Given the description of an element on the screen output the (x, y) to click on. 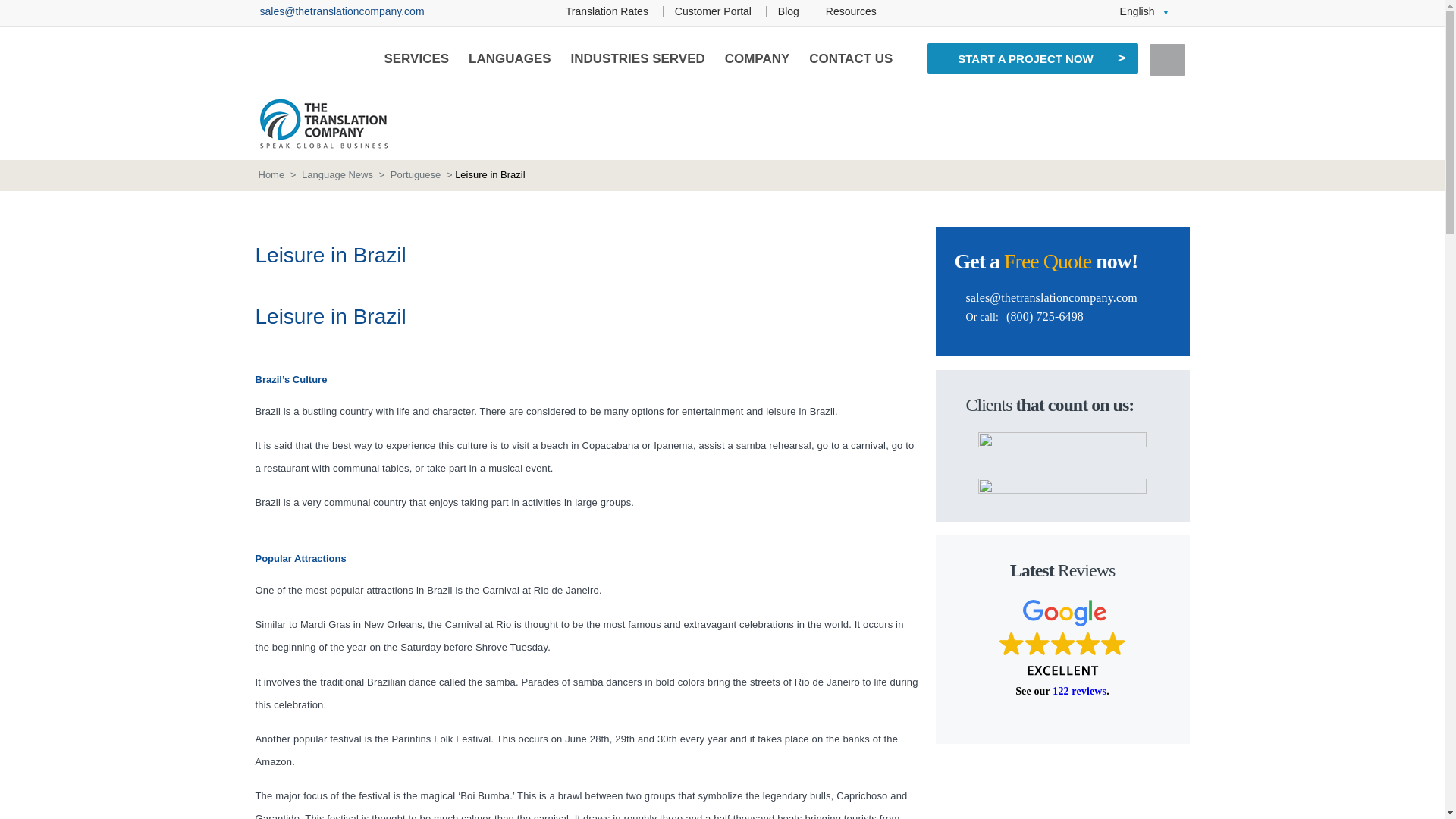
Resources (850, 10)
YouTube (1079, 12)
Translation Rates (606, 10)
INDUSTRIES SERVED (637, 58)
Blog (788, 10)
Translation Resources (850, 10)
LANGUAGES (509, 58)
Translation News (788, 10)
SERVICES (416, 58)
Choose your preferred language (1144, 11)
Customer Portal (713, 10)
English (1144, 11)
facebook (996, 12)
Professional Translators (606, 10)
Document Translation Services (713, 10)
